Given the description of an element on the screen output the (x, y) to click on. 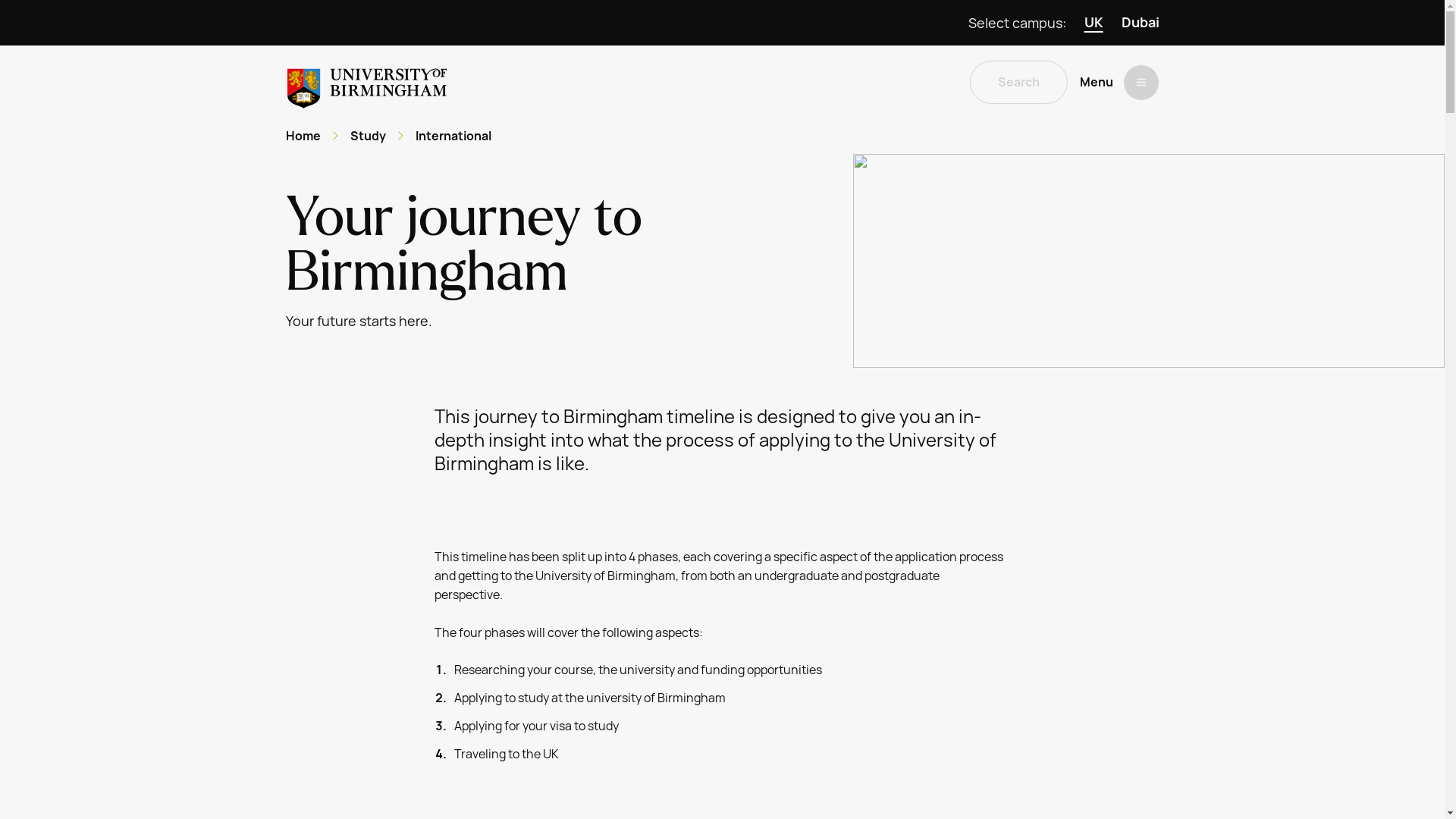
Home (302, 136)
Dubai (1139, 22)
Search (1018, 81)
International (453, 136)
UK (1093, 22)
Study (367, 136)
